Given the description of an element on the screen output the (x, y) to click on. 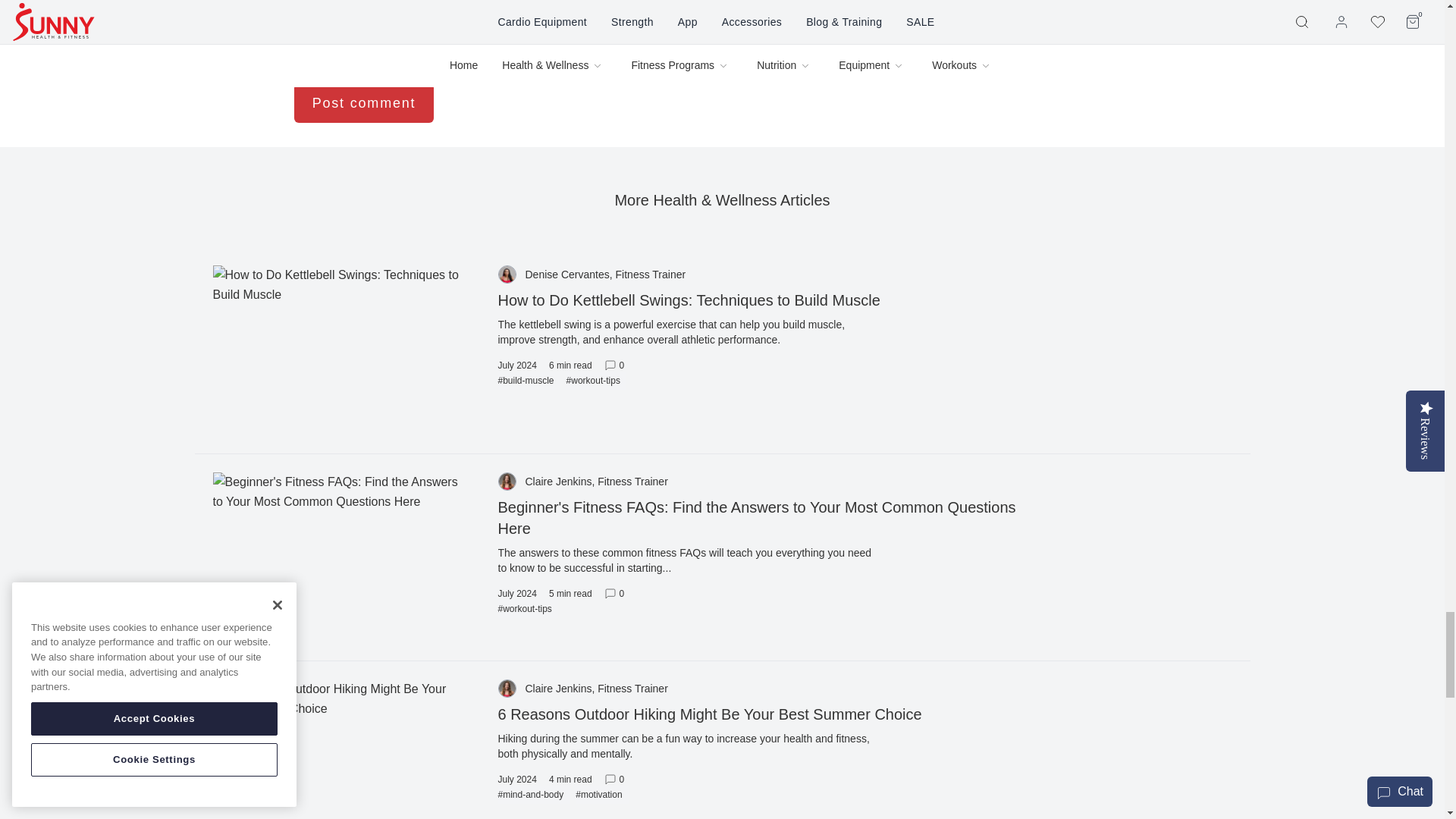
Post comment (363, 102)
